Given the description of an element on the screen output the (x, y) to click on. 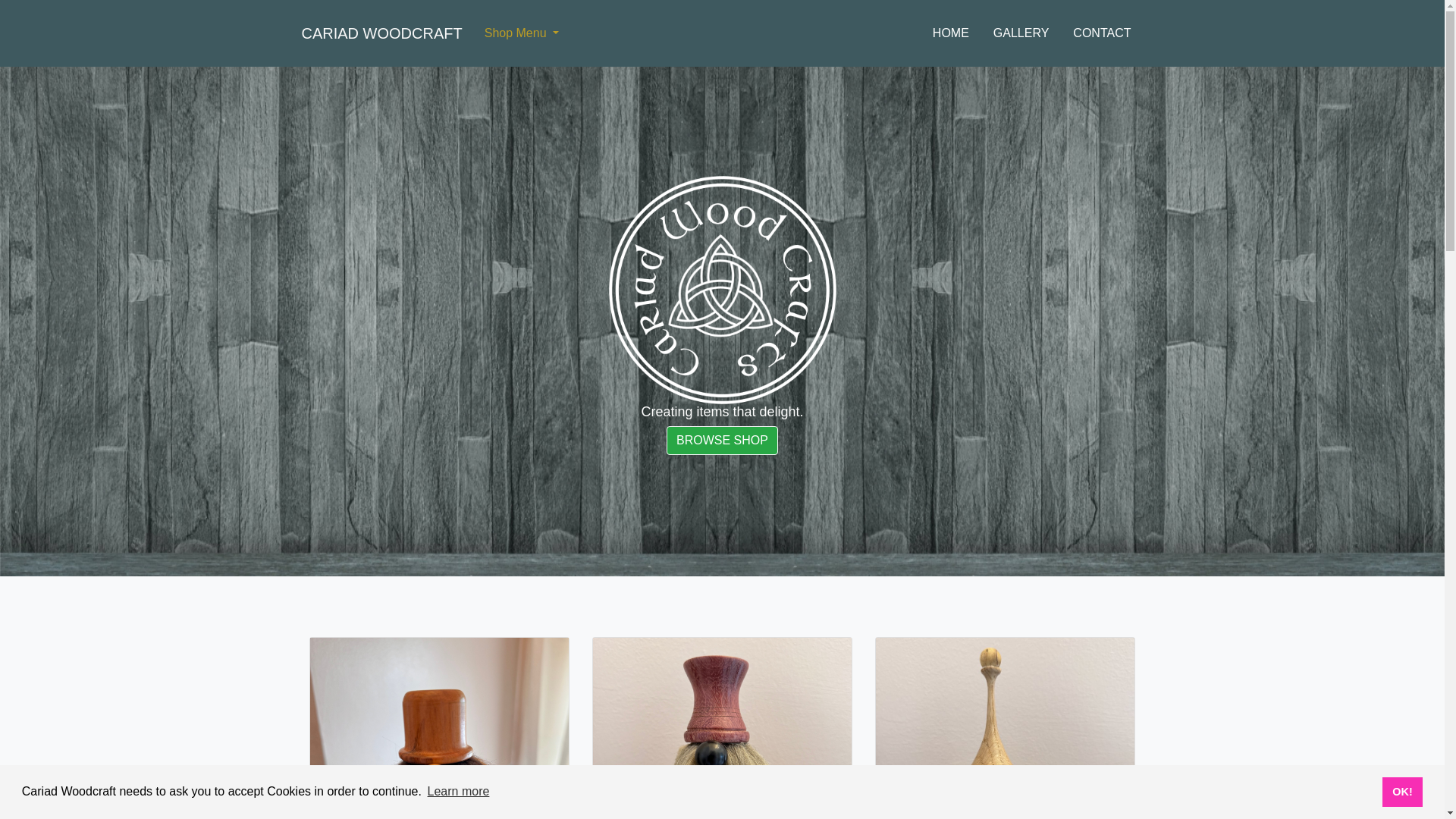
Shop Menu (521, 32)
Nordic Gonk Handmade with Various Hardwoods (437, 728)
CONTACT (1101, 32)
Nordic Gonk Purple heart and Oak with a Blonde beard.jpg (721, 728)
GALLERY (1021, 32)
BROWSE SHOP (721, 440)
HOME (950, 32)
OK! (1401, 791)
CARIAD WOODCRAFT (382, 33)
Nordic Hardwood Gonk (1005, 728)
Learn more (458, 791)
